Given the description of an element on the screen output the (x, y) to click on. 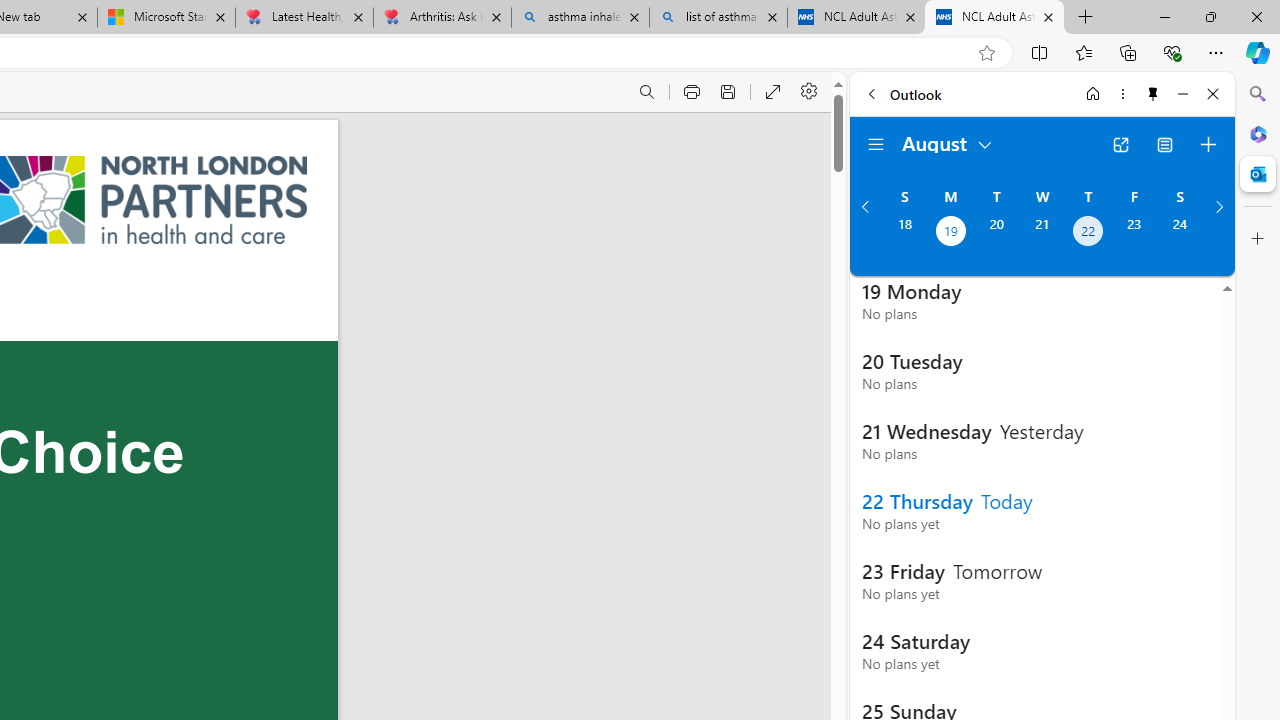
Monday, August 19, 2024. Date selected.  (950, 233)
View Switcher. Current view is Agenda view (1165, 144)
Enter PDF full screen (773, 92)
asthma inhaler - Search (580, 17)
Save (Ctrl+S) (728, 92)
Open in new tab (1120, 144)
Saturday, August 24, 2024.  (1180, 233)
